Given the description of an element on the screen output the (x, y) to click on. 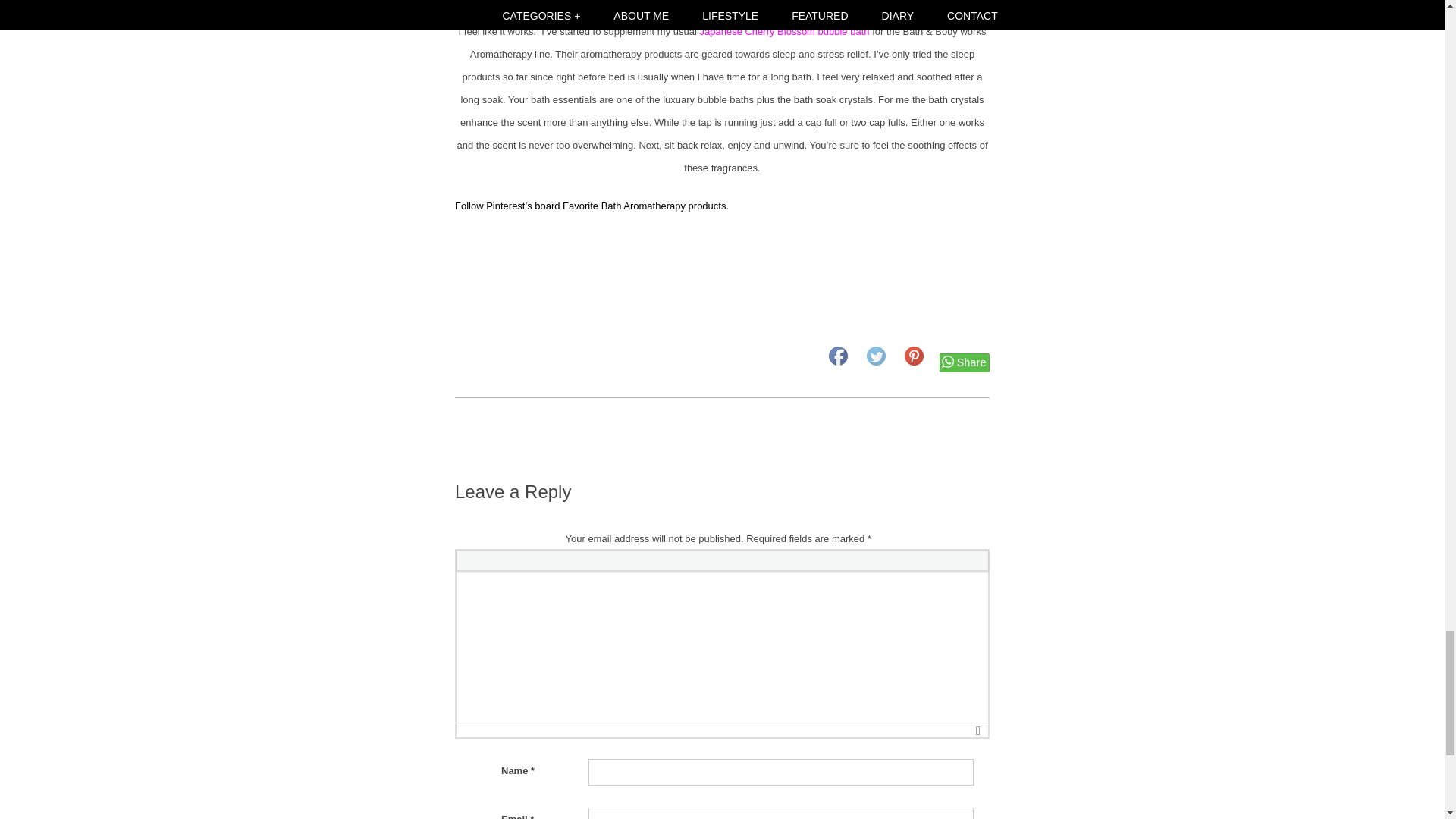
Japanese Cherry Blossom bubble bath (783, 30)
Facebook (837, 355)
Rich Text Area. Press Alt-Shift-H for help. (722, 646)
Twitter (875, 355)
Share (964, 362)
Pinterest (913, 355)
